Given the description of an element on the screen output the (x, y) to click on. 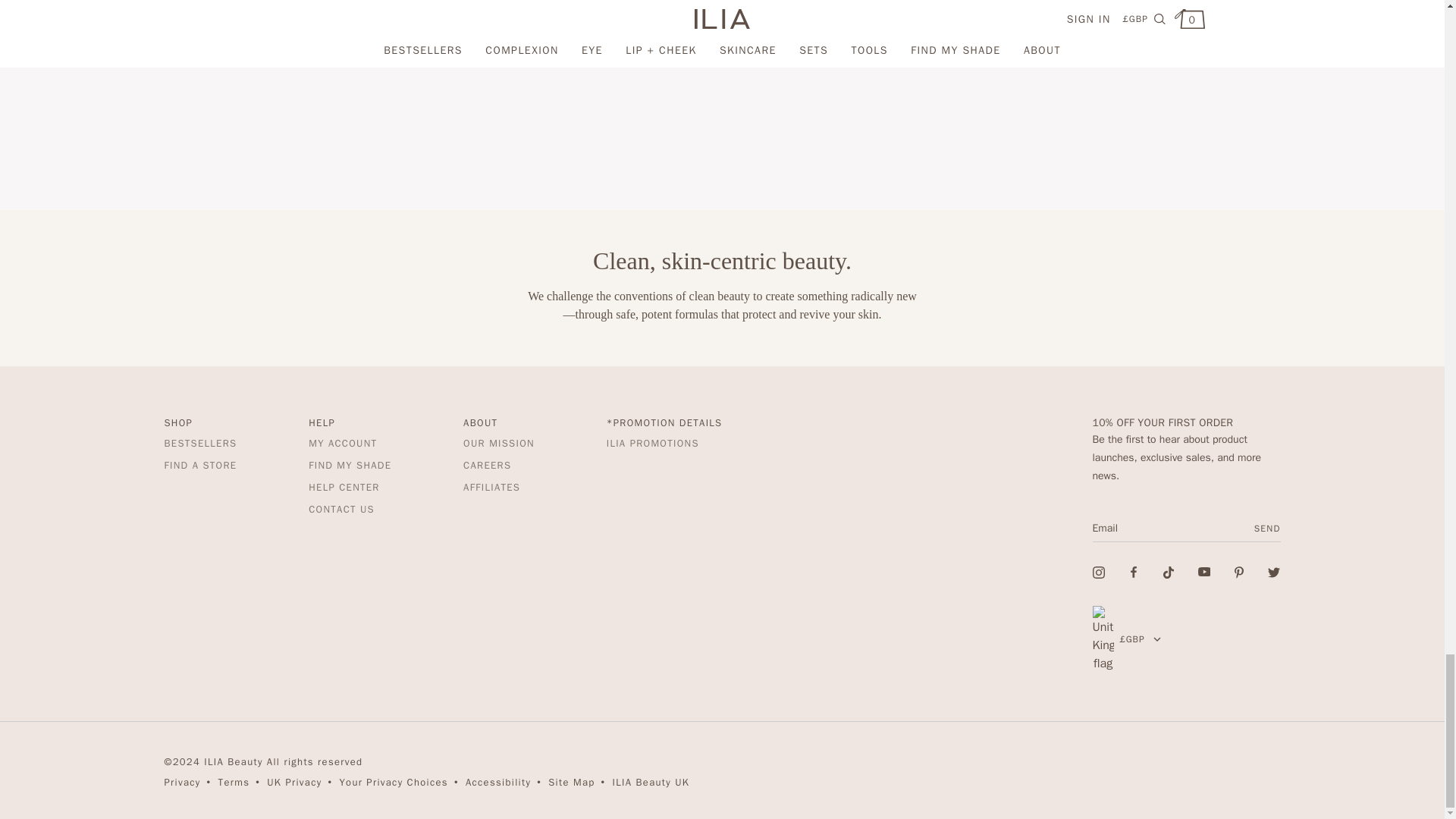
SEND (1263, 528)
